Given the description of an element on the screen output the (x, y) to click on. 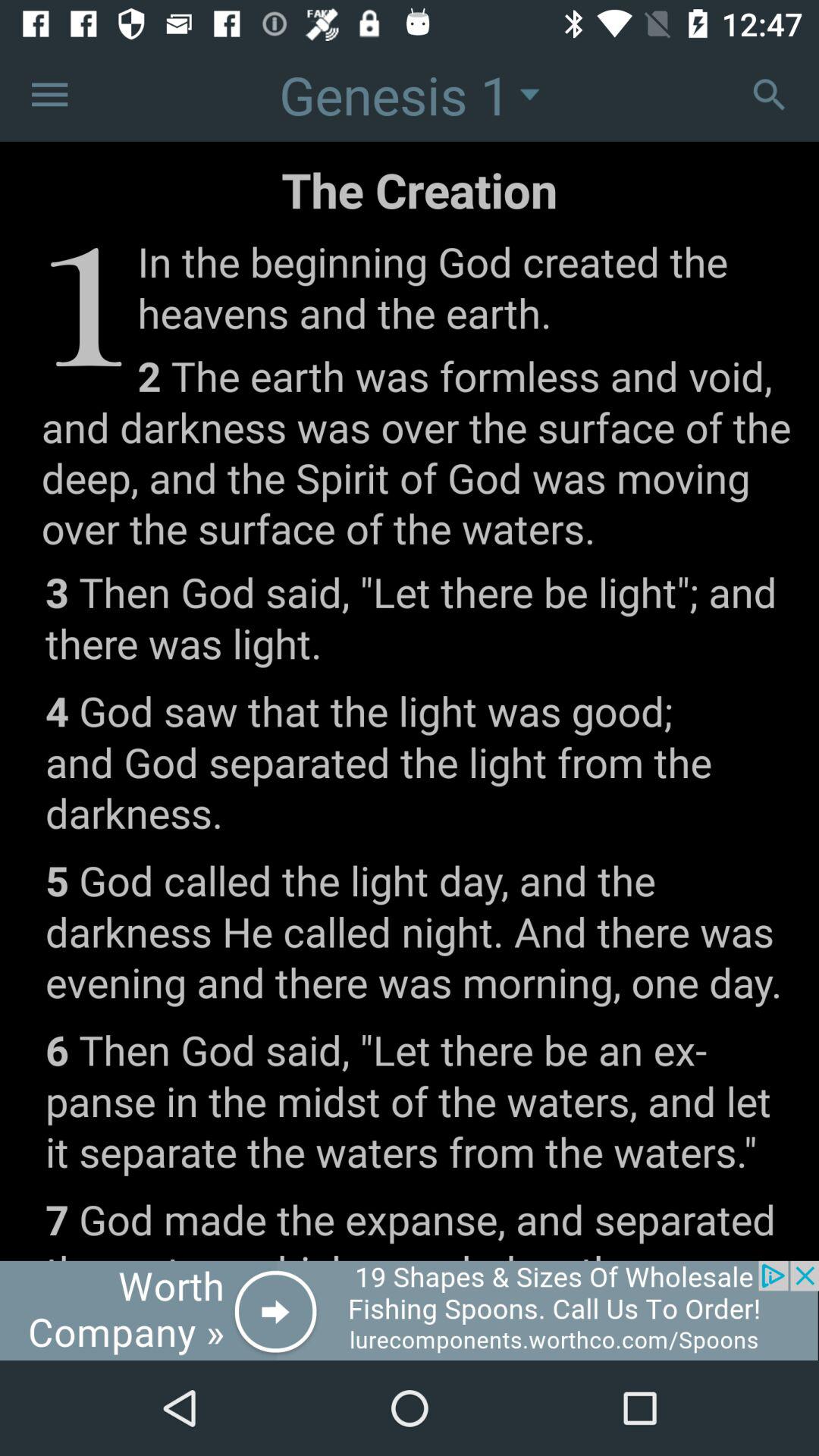
options tab (49, 94)
